Given the description of an element on the screen output the (x, y) to click on. 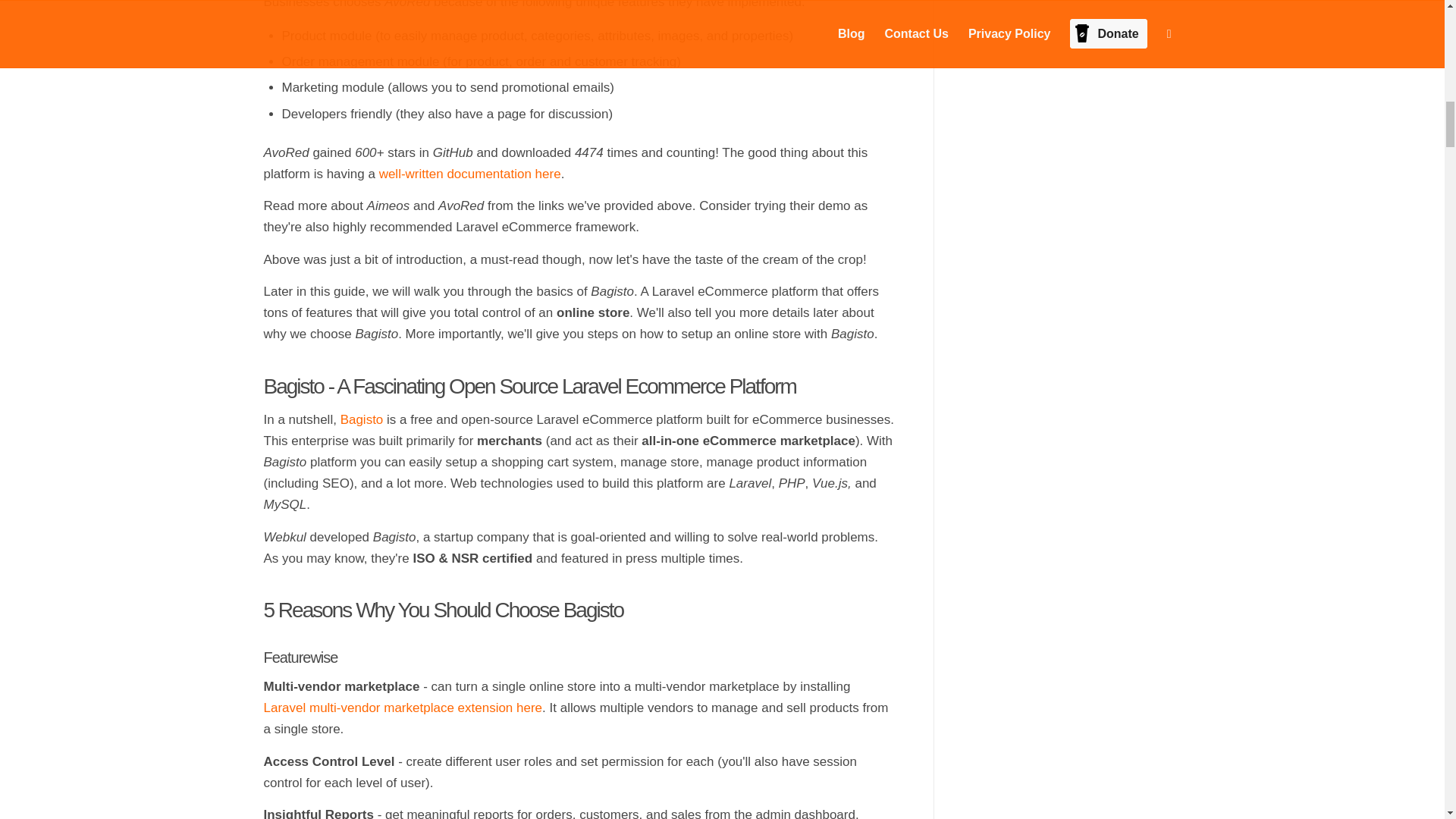
well-written documentation here (469, 173)
Bagisto (362, 419)
Laravel multi-vendor marketplace extension here (403, 707)
